Given the description of an element on the screen output the (x, y) to click on. 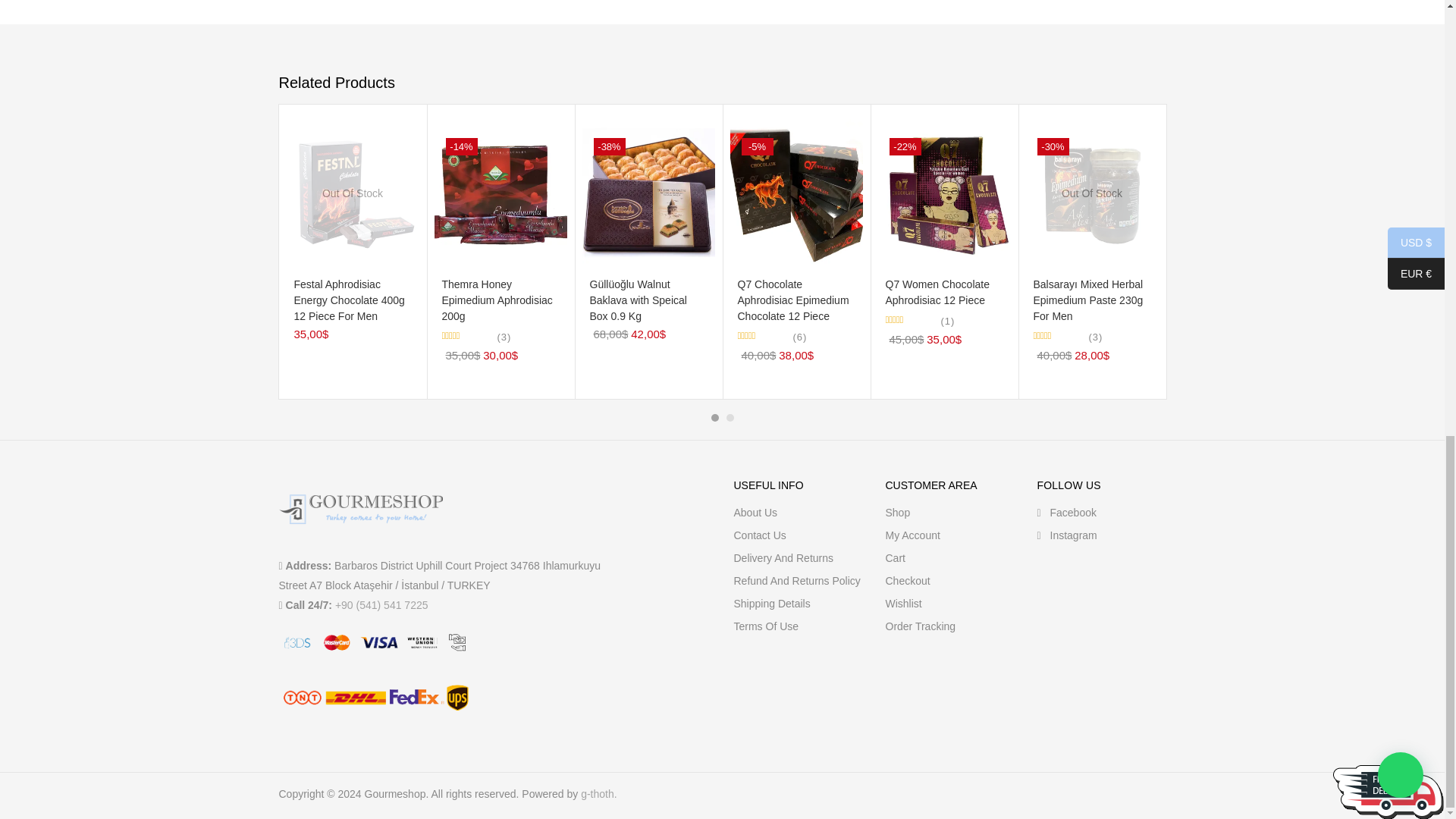
Festal Aphrodisiac Energy Chocolate 400g 12 Piece For Men (352, 192)
Themra Honey Epimedium Aphrodisiac 200g (499, 192)
